Given the description of an element on the screen output the (x, y) to click on. 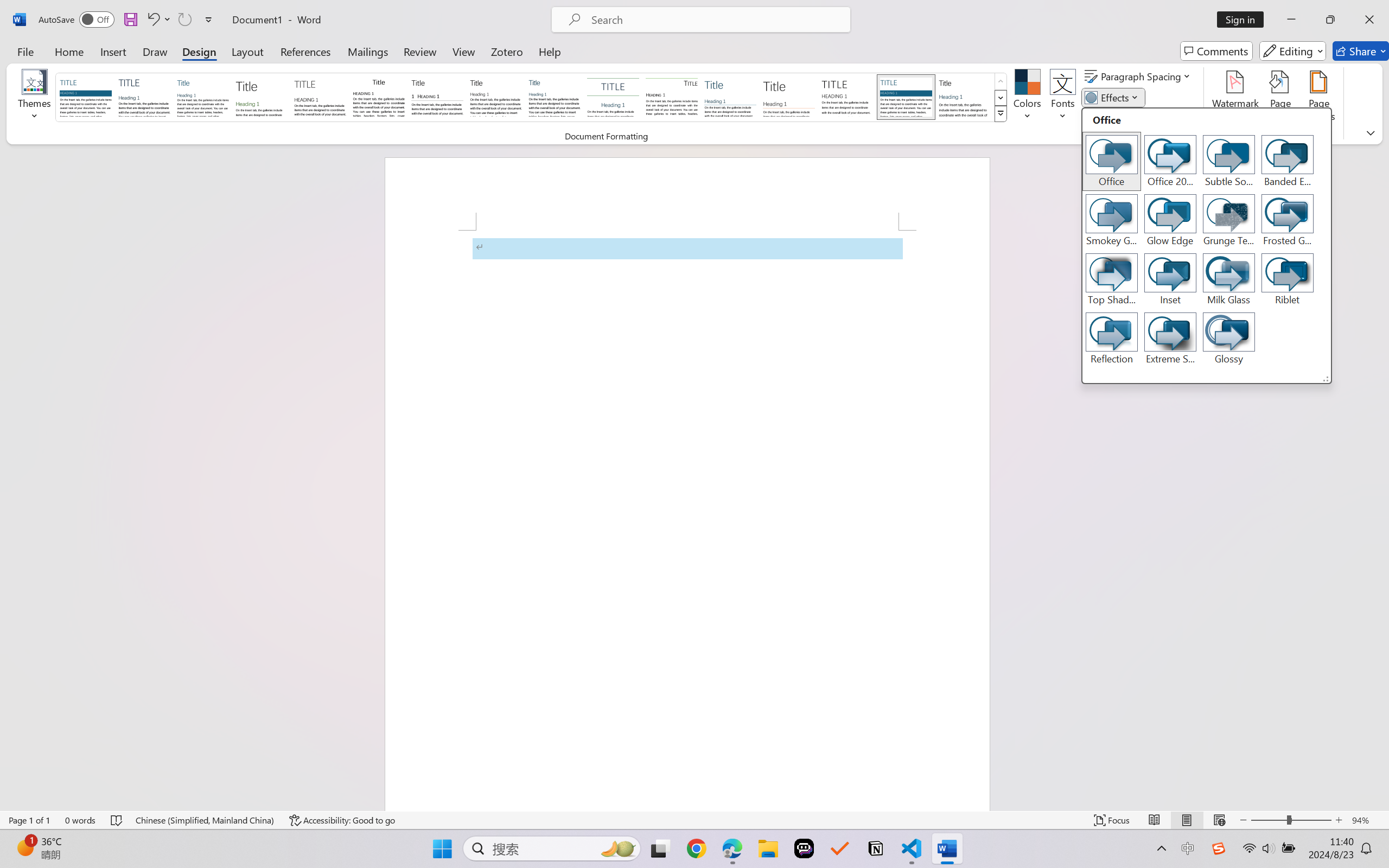
Lines (Stylish) (788, 96)
Basic (Elegant) (144, 96)
Black & White (Numbered) (437, 96)
Themes (34, 97)
Shaded (905, 96)
Word (964, 96)
